Given the description of an element on the screen output the (x, y) to click on. 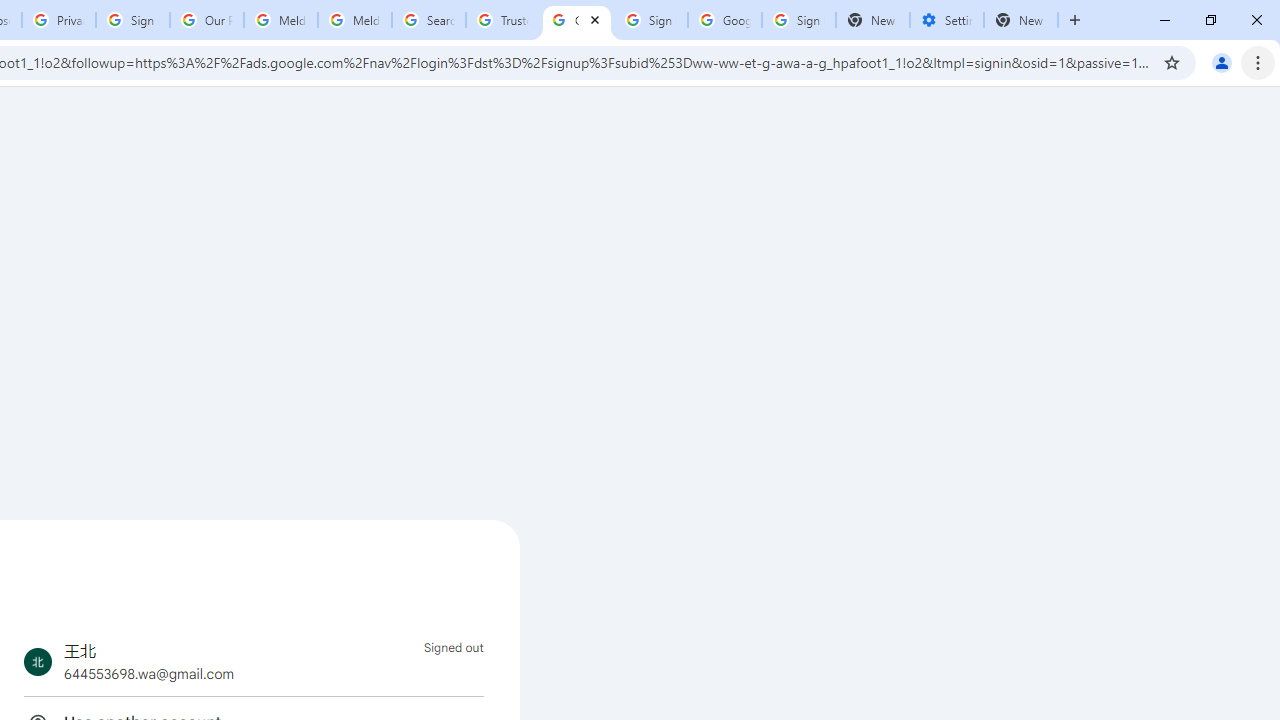
Search our Doodle Library Collection - Google Doodles (428, 20)
Trusted Information and Content - Google Safety Center (502, 20)
Restore (1210, 20)
Settings - Addresses and more (947, 20)
